Given the description of an element on the screen output the (x, y) to click on. 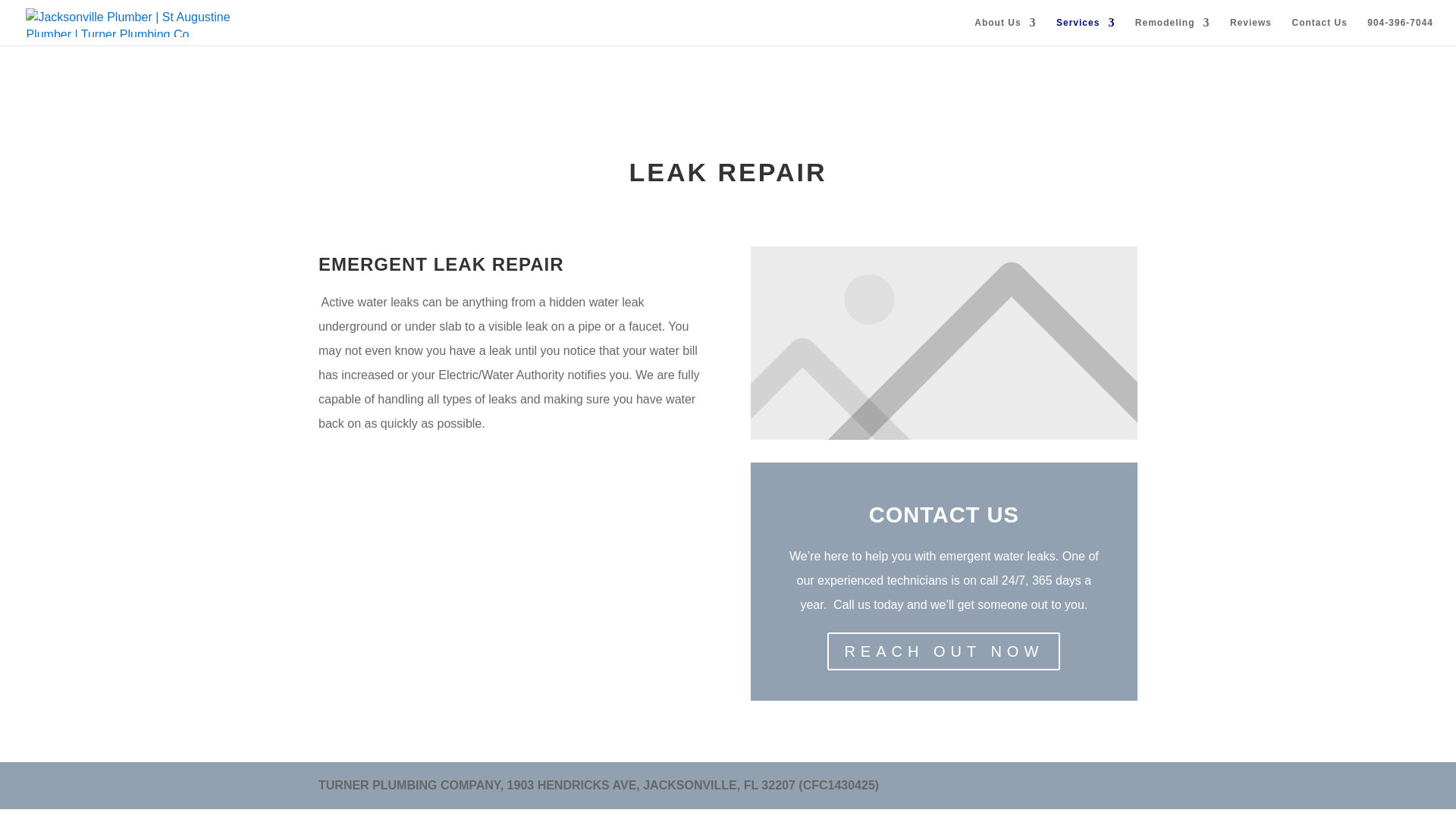
About Us (1004, 31)
Services (1086, 31)
Book Now! (30, 12)
